Given the description of an element on the screen output the (x, y) to click on. 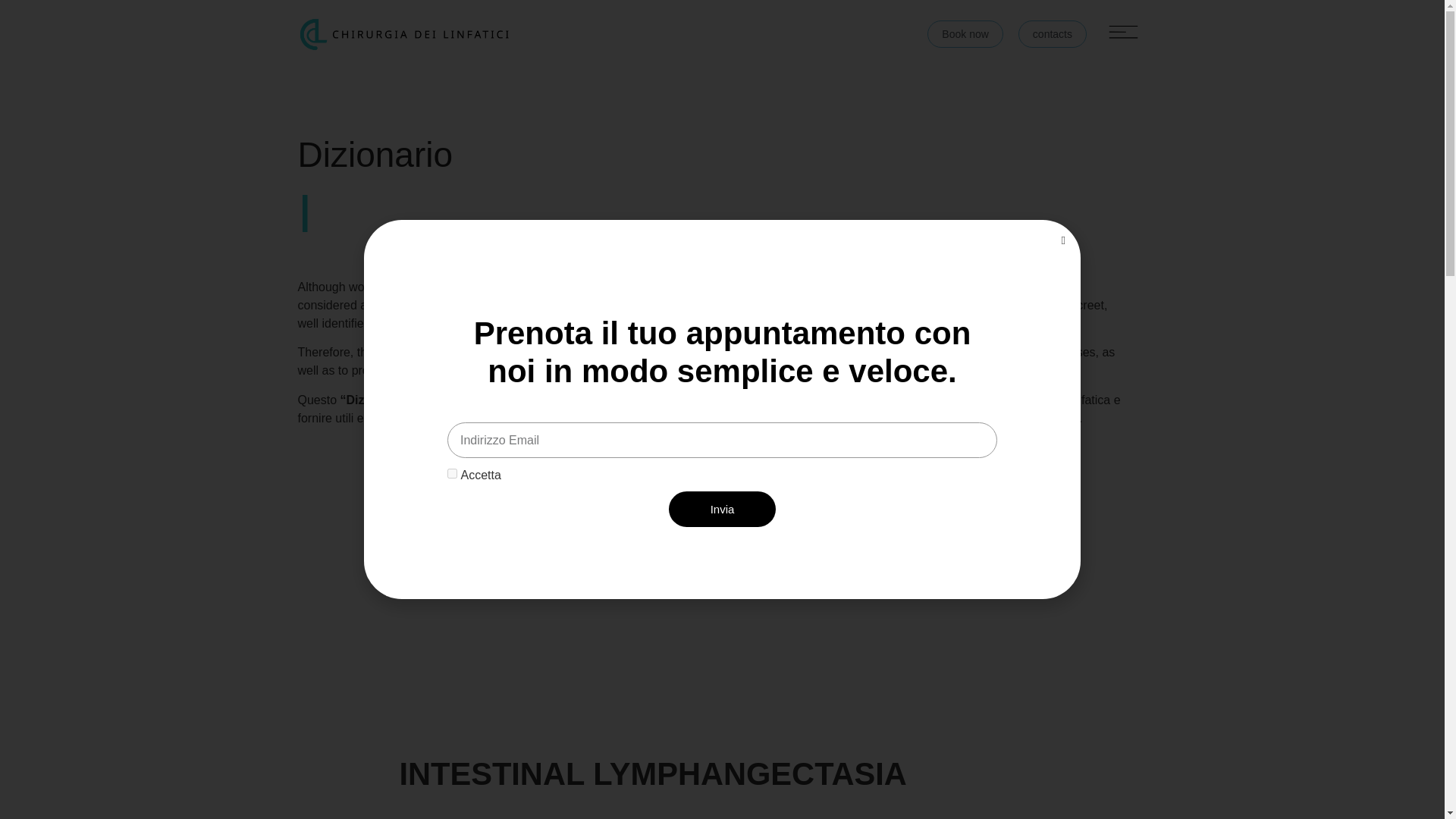
A (387, 523)
on (451, 473)
C (483, 523)
F (627, 523)
I (769, 523)
Book now (965, 33)
B (436, 523)
H (724, 523)
D (533, 523)
G (676, 523)
contacts (1051, 33)
E (580, 523)
K (814, 523)
